Given the description of an element on the screen output the (x, y) to click on. 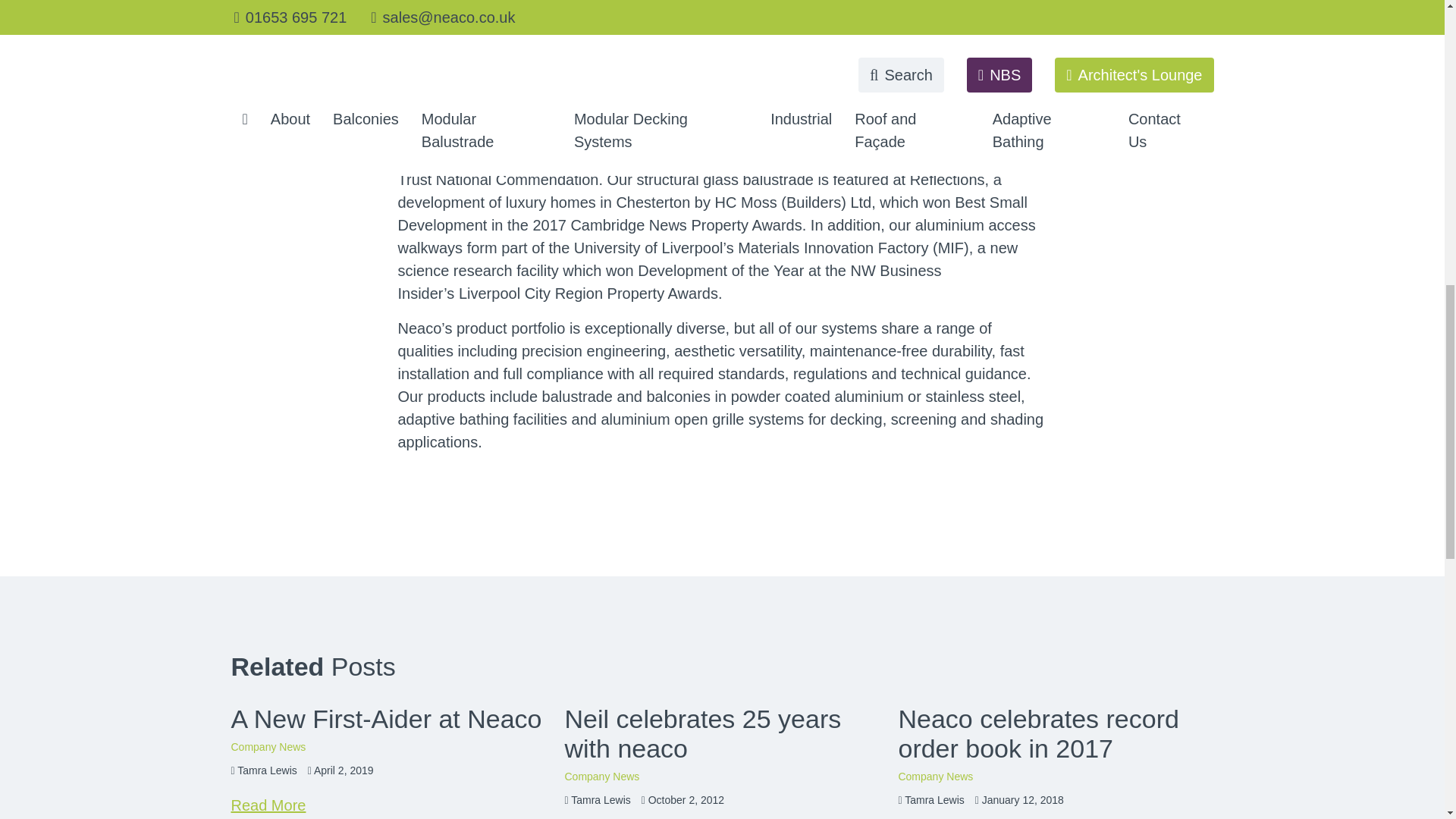
Permanent Link to Neil celebrates 25 years with neaco (702, 733)
Permanent Link to A New First-Aider at Neaco (385, 718)
Permanent Link to Neaco celebrates record order book in 2017 (1037, 733)
Permanent Link to A New First-Aider at Neaco (267, 805)
